Given the description of an element on the screen output the (x, y) to click on. 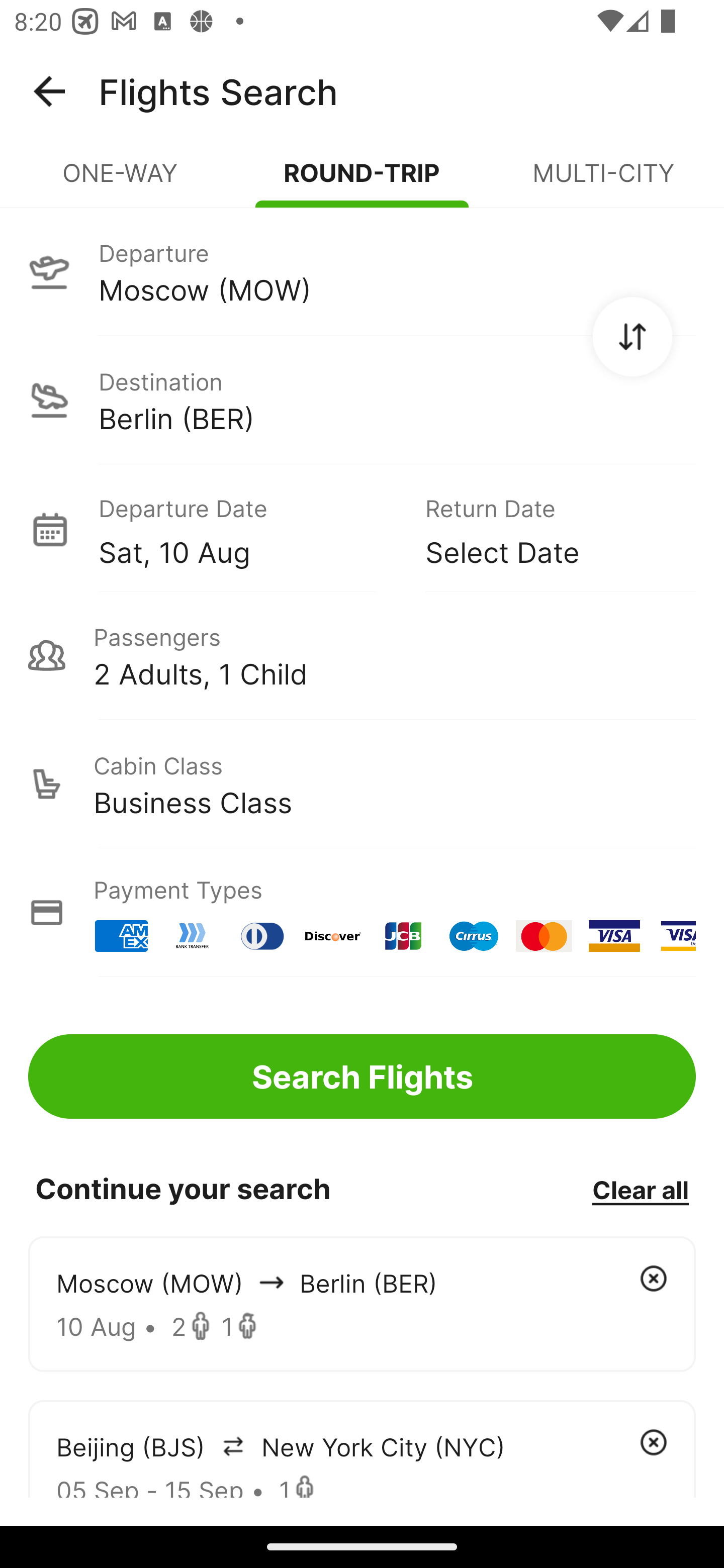
ONE-WAY (120, 180)
ROUND-TRIP (361, 180)
MULTI-CITY (603, 180)
Departure Moscow (MOW) (362, 270)
Destination Berlin (BER) (362, 400)
Departure Date Sat, 10 Aug (247, 528)
Return Date Select Date (546, 528)
Passengers 2 Adults, 1 Child (362, 655)
Cabin Class Business Class (362, 783)
Payment Types (362, 912)
Search Flights (361, 1075)
Clear all (640, 1189)
